Given the description of an element on the screen output the (x, y) to click on. 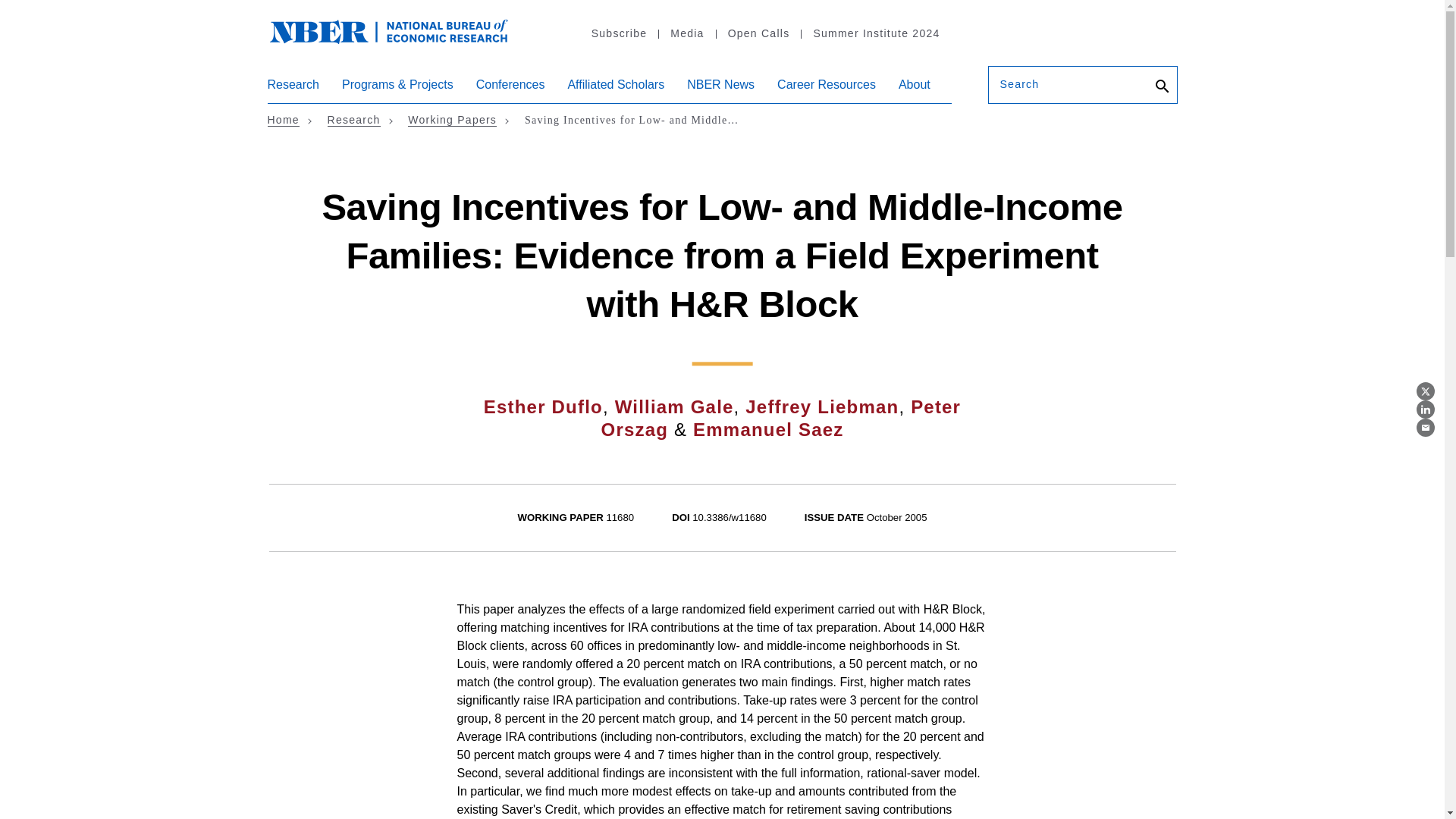
Summer Institute 2024 (875, 33)
Email (1425, 427)
Twitter (1425, 391)
LinkedIn (1425, 409)
Media (686, 33)
Subscribe (619, 33)
NBER: National Bureau of Economic Research (387, 31)
Open Calls (759, 33)
Research (292, 90)
NBER: National Bureau of Economic Research (400, 39)
